Given the description of an element on the screen output the (x, y) to click on. 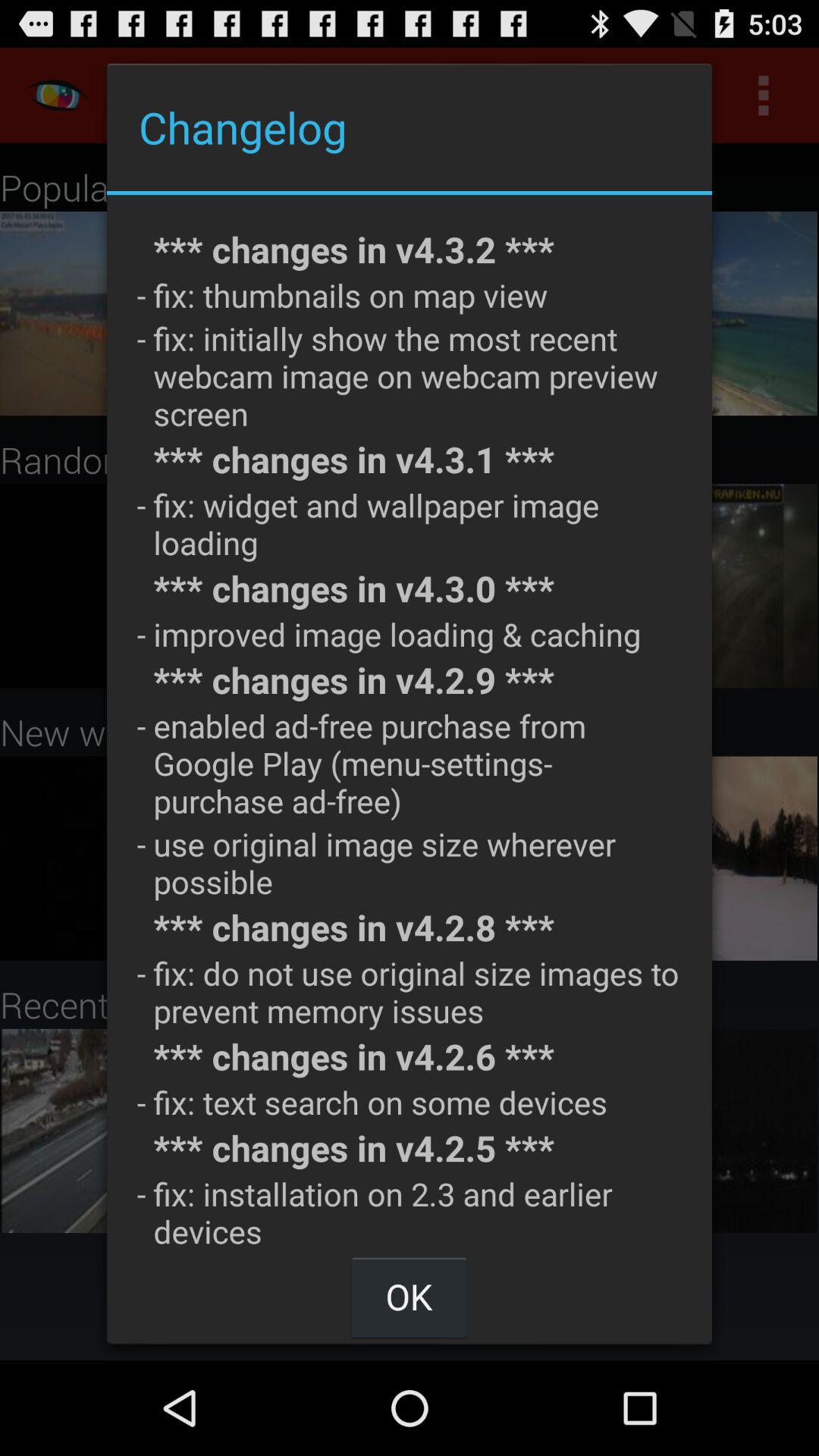
open item below fix installation on app (408, 1296)
